Given the description of an element on the screen output the (x, y) to click on. 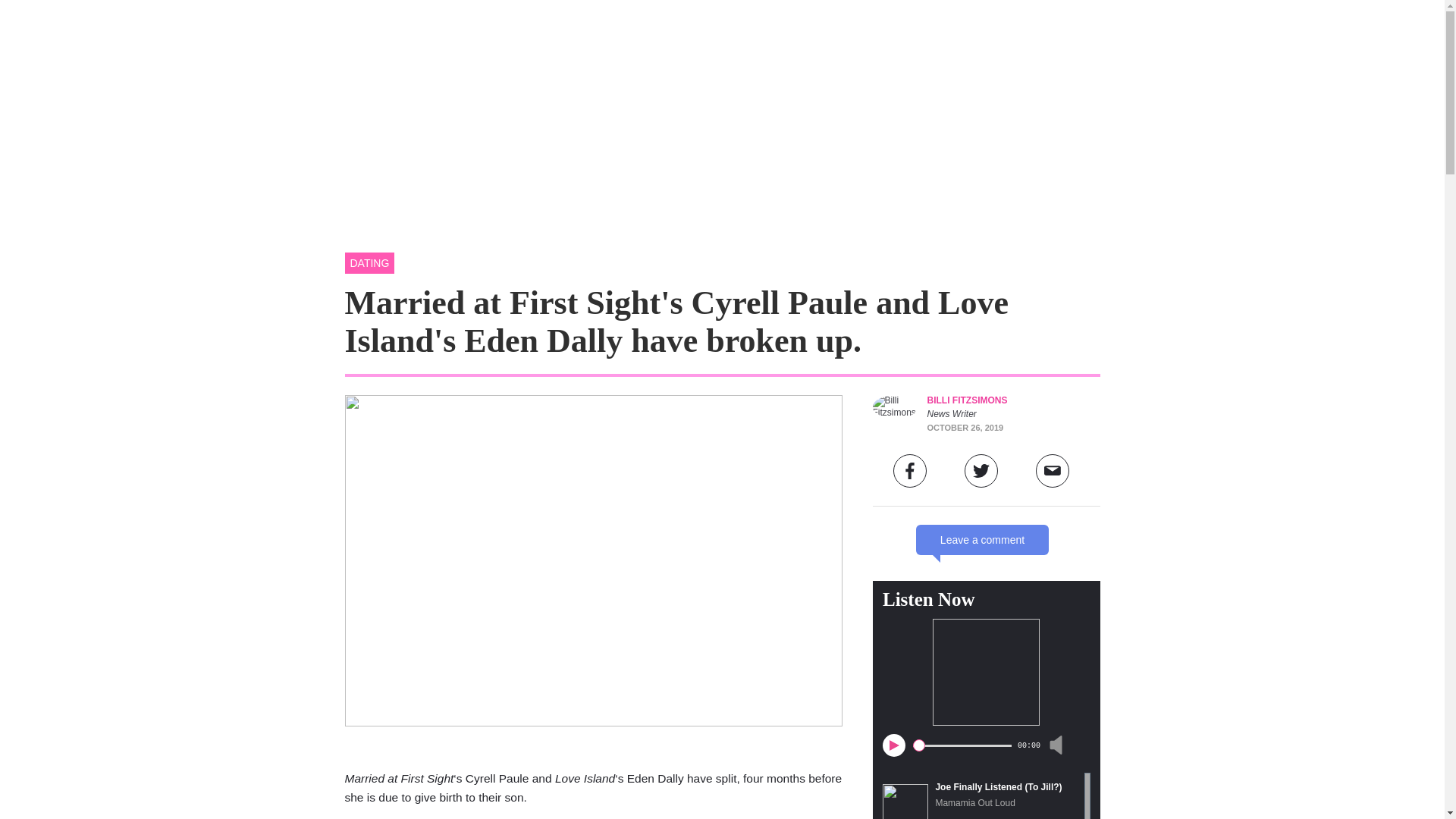
Share via twitter (980, 470)
0 (961, 745)
Listen Now (928, 598)
Share via e-mail (1051, 470)
DATING (368, 262)
Share via facebook (909, 470)
BILLI FITZSIMONS (966, 399)
